Given the description of an element on the screen output the (x, y) to click on. 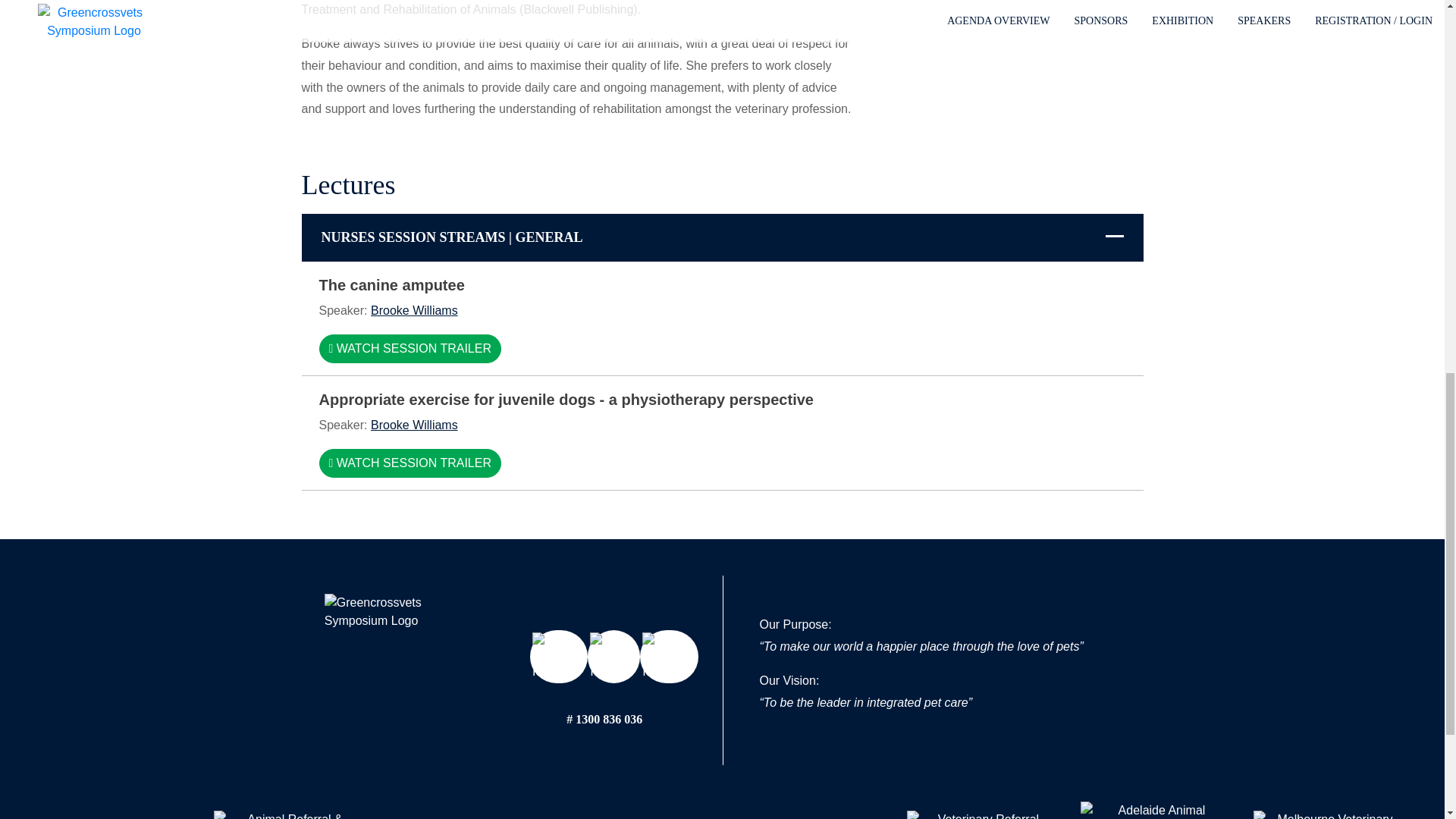
Facebook (558, 656)
Brooke Williams (414, 309)
WATCH SESSION TRAILER (409, 348)
Brooke Williams (414, 424)
Instagram (669, 656)
YouTube (614, 656)
WATCH SESSION TRAILER (409, 462)
Greencross Vets Symposium (391, 660)
